Given the description of an element on the screen output the (x, y) to click on. 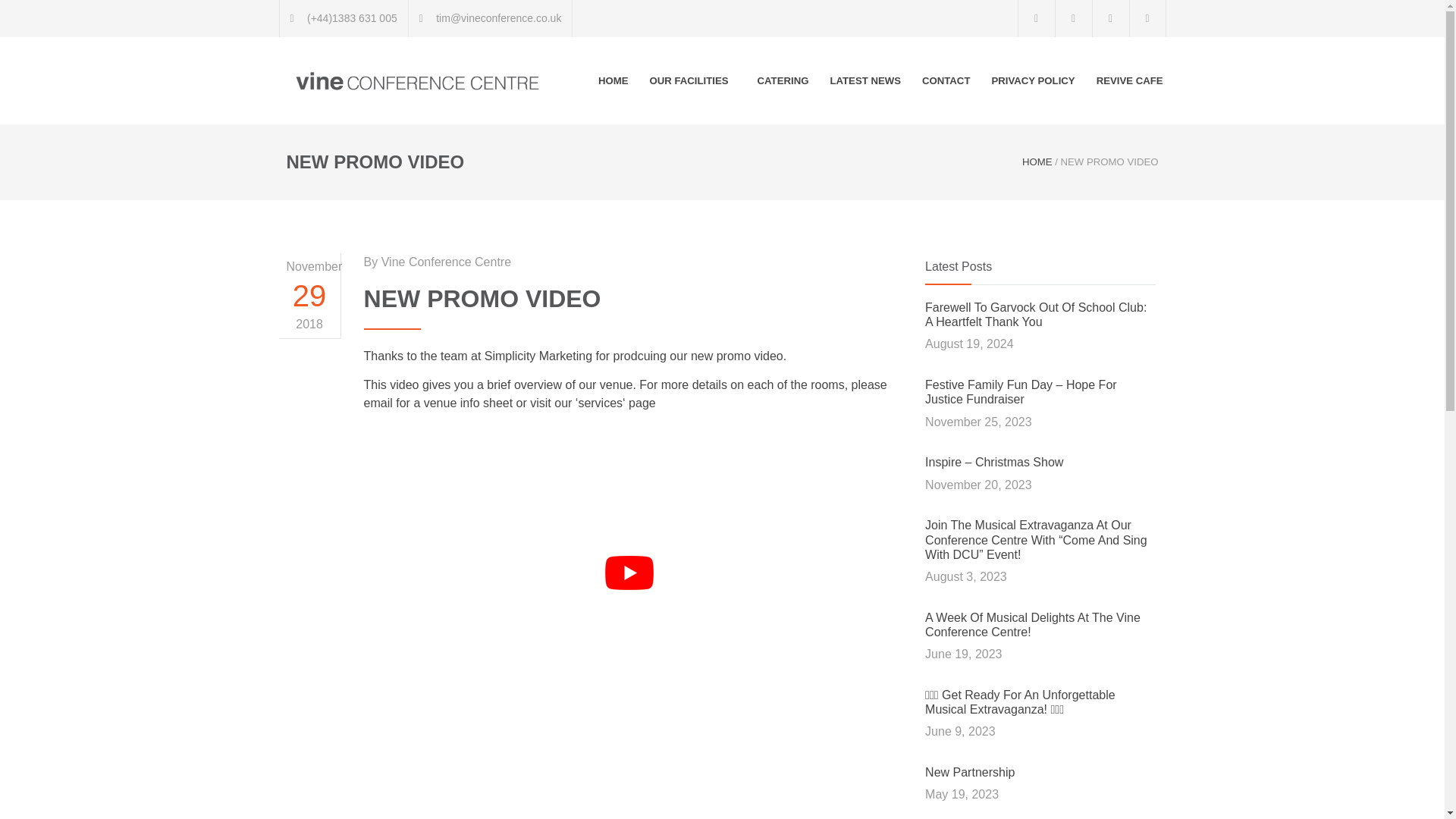
CONTACT (945, 80)
REVIVE CAFE (1124, 80)
PRIVACY POLICY (1031, 80)
OUR FACILITIES (692, 80)
CATERING (782, 80)
LATEST NEWS (864, 80)
HOME (613, 80)
